Given the description of an element on the screen output the (x, y) to click on. 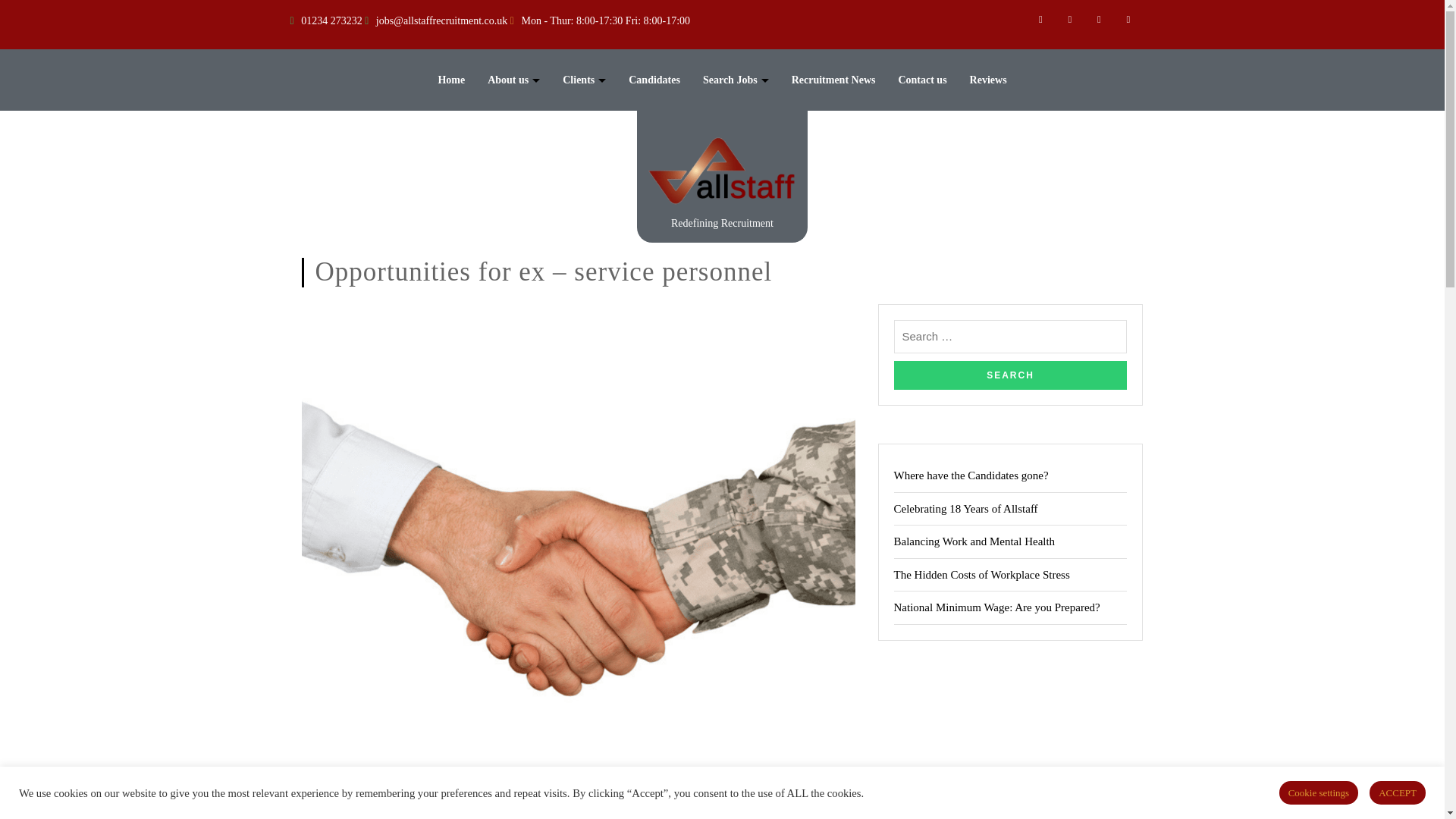
Search Jobs (735, 79)
Search (1009, 375)
Contact us (922, 79)
Where have the Candidates gone? (970, 475)
Recruitment News (834, 79)
Clients (583, 79)
About us (513, 79)
Home (451, 79)
Search (1009, 375)
Celebrating 18 Years of Allstaff (964, 508)
Reviews (988, 79)
Search (1009, 375)
Balancing Work and Mental Health (973, 541)
Candidates (653, 79)
